Given the description of an element on the screen output the (x, y) to click on. 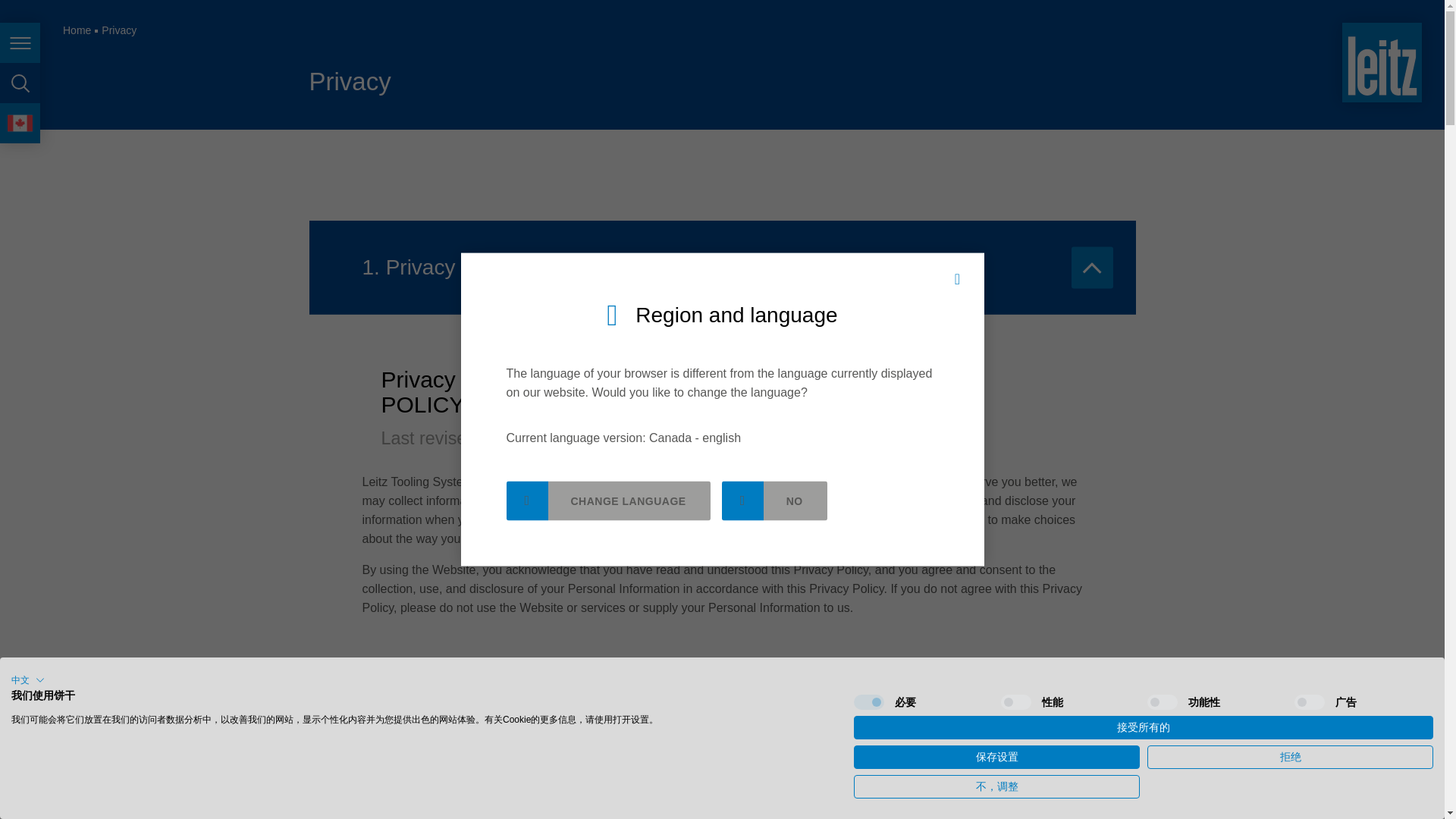
language (20, 123)
page search (20, 83)
Page navigation (20, 42)
language (20, 123)
page search (20, 83)
Page navigation (20, 42)
